Given the description of an element on the screen output the (x, y) to click on. 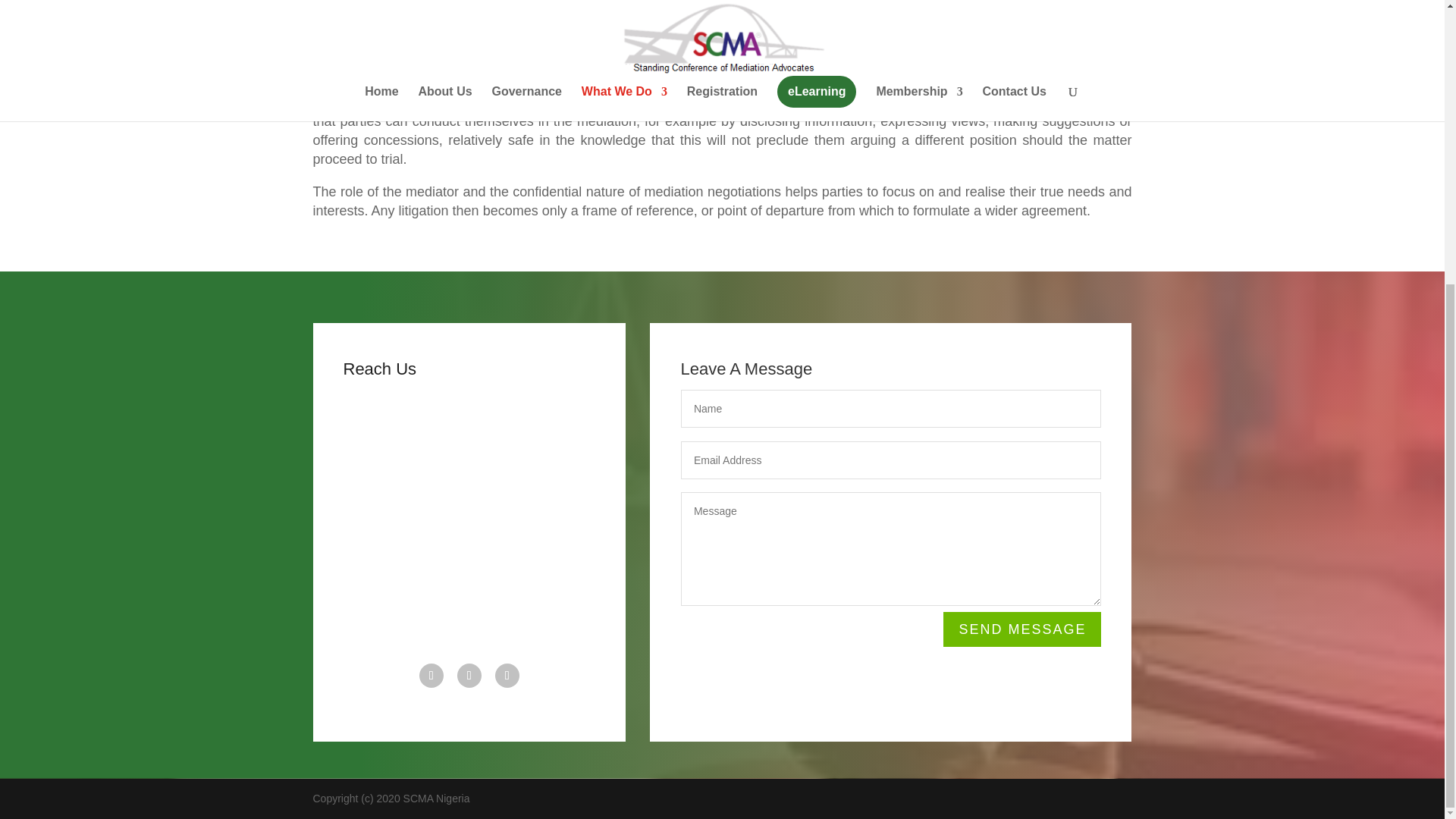
Follow on LinkedIn (507, 675)
Follow on Facebook (431, 675)
SEND MESSAGE (1021, 628)
Follow on X (469, 675)
